Given the description of an element on the screen output the (x, y) to click on. 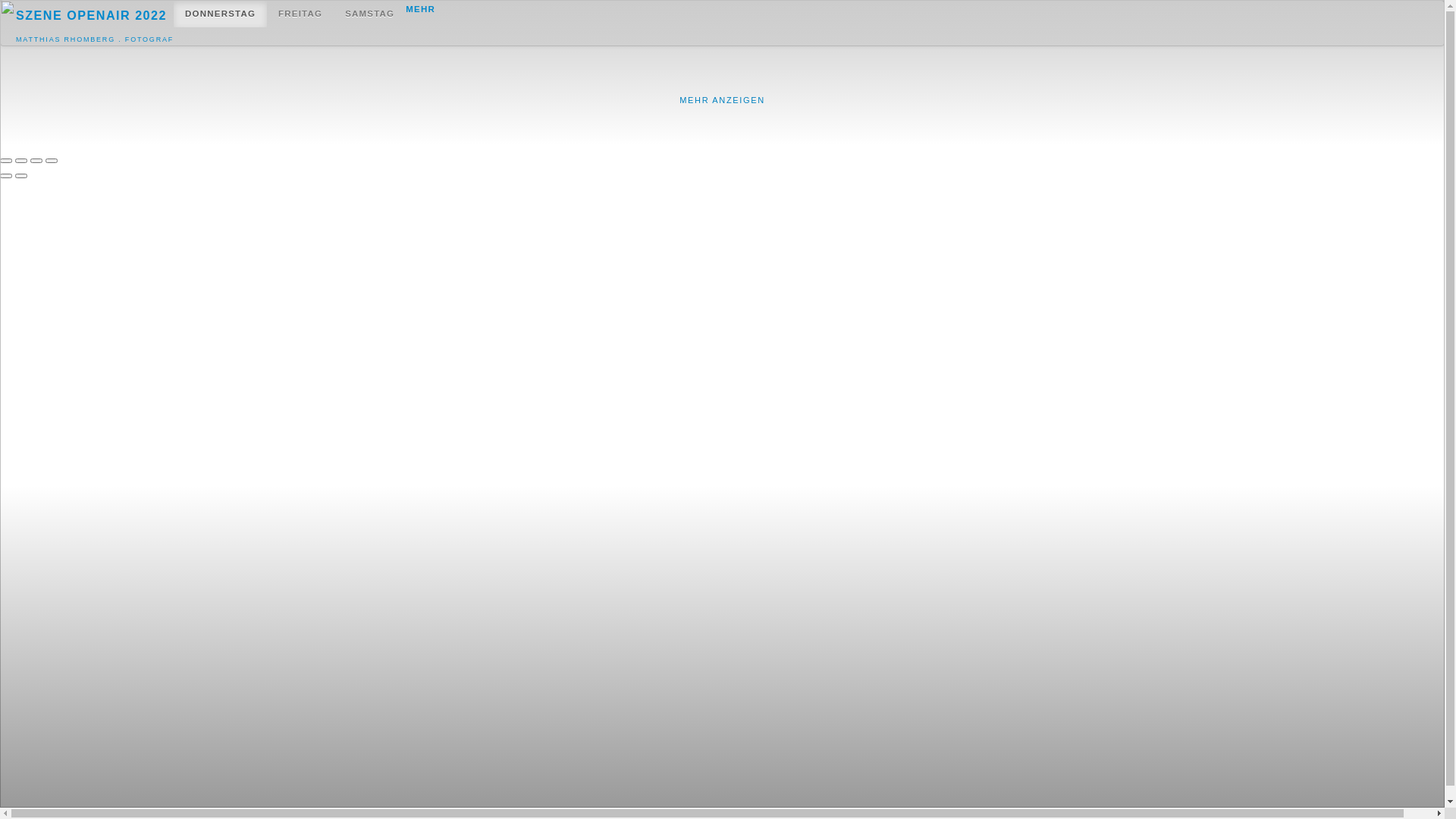
Zoom in/out Element type: hover (51, 160)
Close (Esc) Element type: hover (6, 160)
MEHR Element type: text (420, 8)
SZENE OPENAIR 2022 Element type: text (94, 15)
MATTHIAS RHOMBERG . FOTOGRAF Element type: text (94, 39)
FREITAG Element type: text (299, 13)
SAMSTAG Element type: text (369, 13)
Share Element type: hover (21, 160)
MEHR ANZEIGEN Element type: text (722, 99)
Toggle fullscreen Element type: hover (36, 160)
DONNERSTAG Element type: text (219, 13)
